Given the description of an element on the screen output the (x, y) to click on. 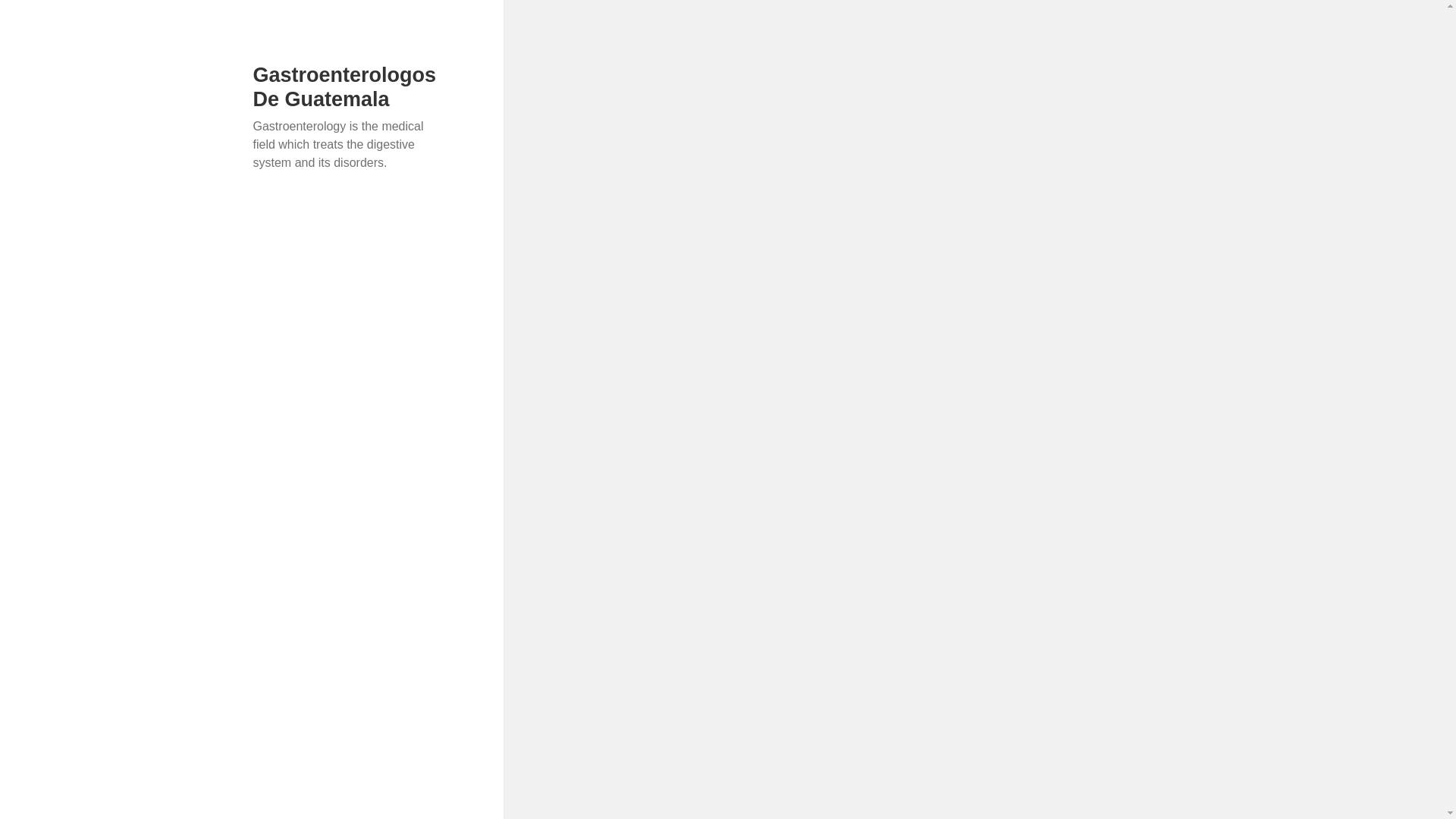
Gastroenterologos De Guatemala (344, 86)
